Given the description of an element on the screen output the (x, y) to click on. 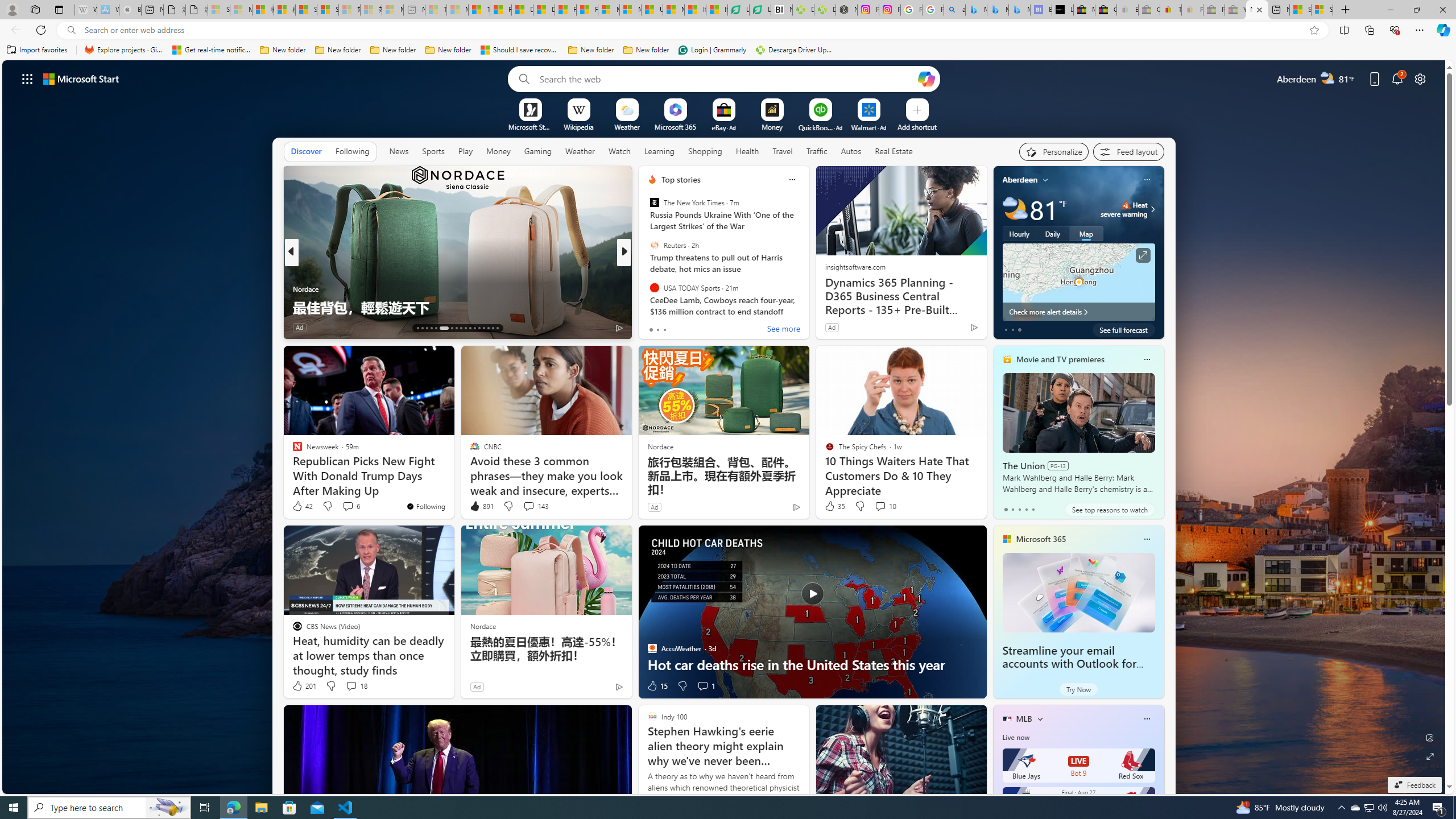
AutomationID: tab-25 (478, 328)
20 Like (652, 327)
Top Stories - MSN - Sleeping (435, 9)
Learn Singing & Healing at the same time (807, 307)
View comments 14 Comment (703, 327)
AutomationID: tab-21 (460, 328)
Nvidia va a poner a prueba la paciencia de los inversores (781, 9)
